Given the description of an element on the screen output the (x, y) to click on. 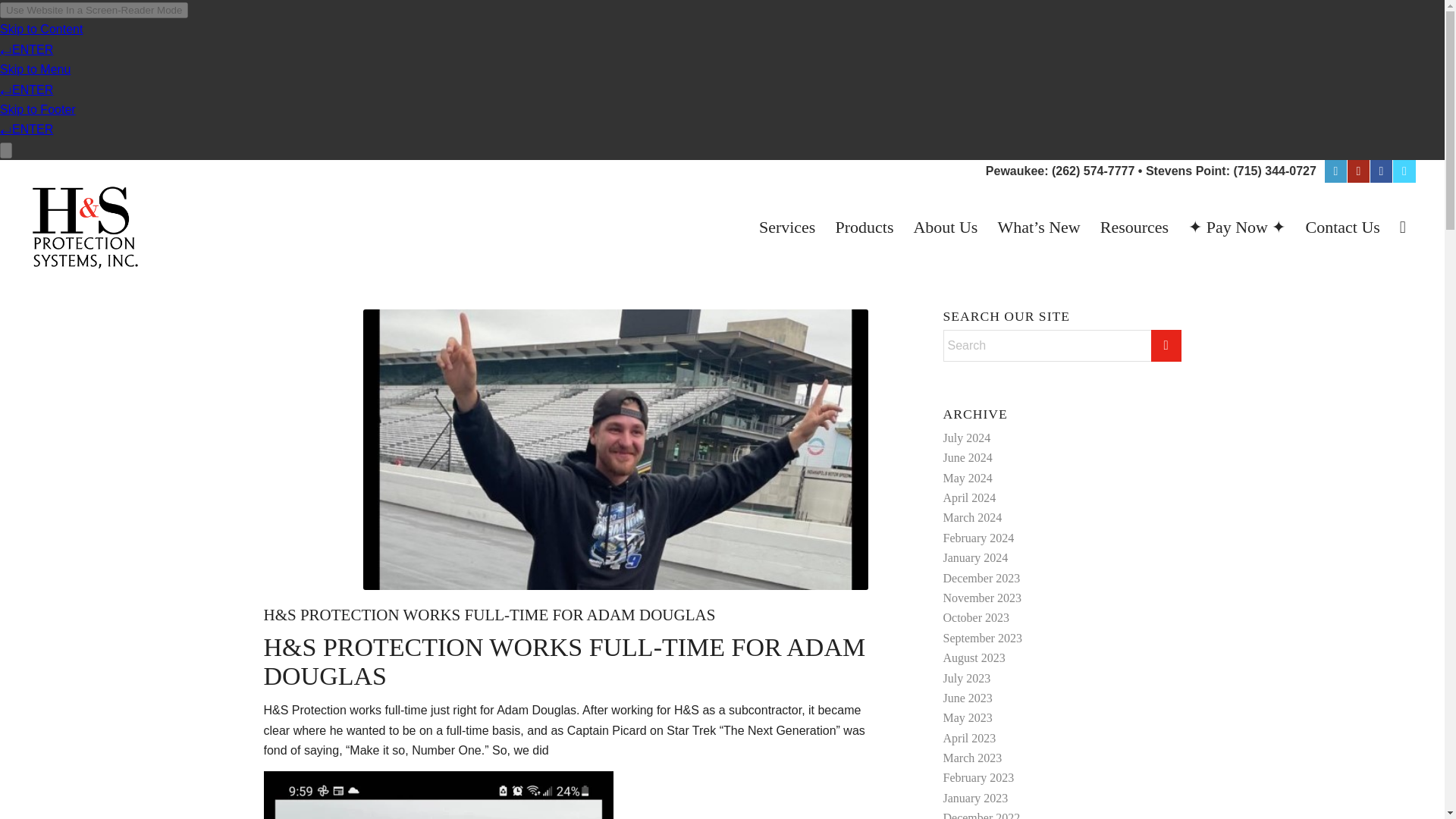
Resources (1133, 226)
Youtube (1359, 170)
HS Protection Systems Logo (85, 226)
X (1404, 170)
Contact Us (1342, 226)
Facebook (1380, 170)
LinkedIn (1335, 170)
About Us (944, 226)
